Given the description of an element on the screen output the (x, y) to click on. 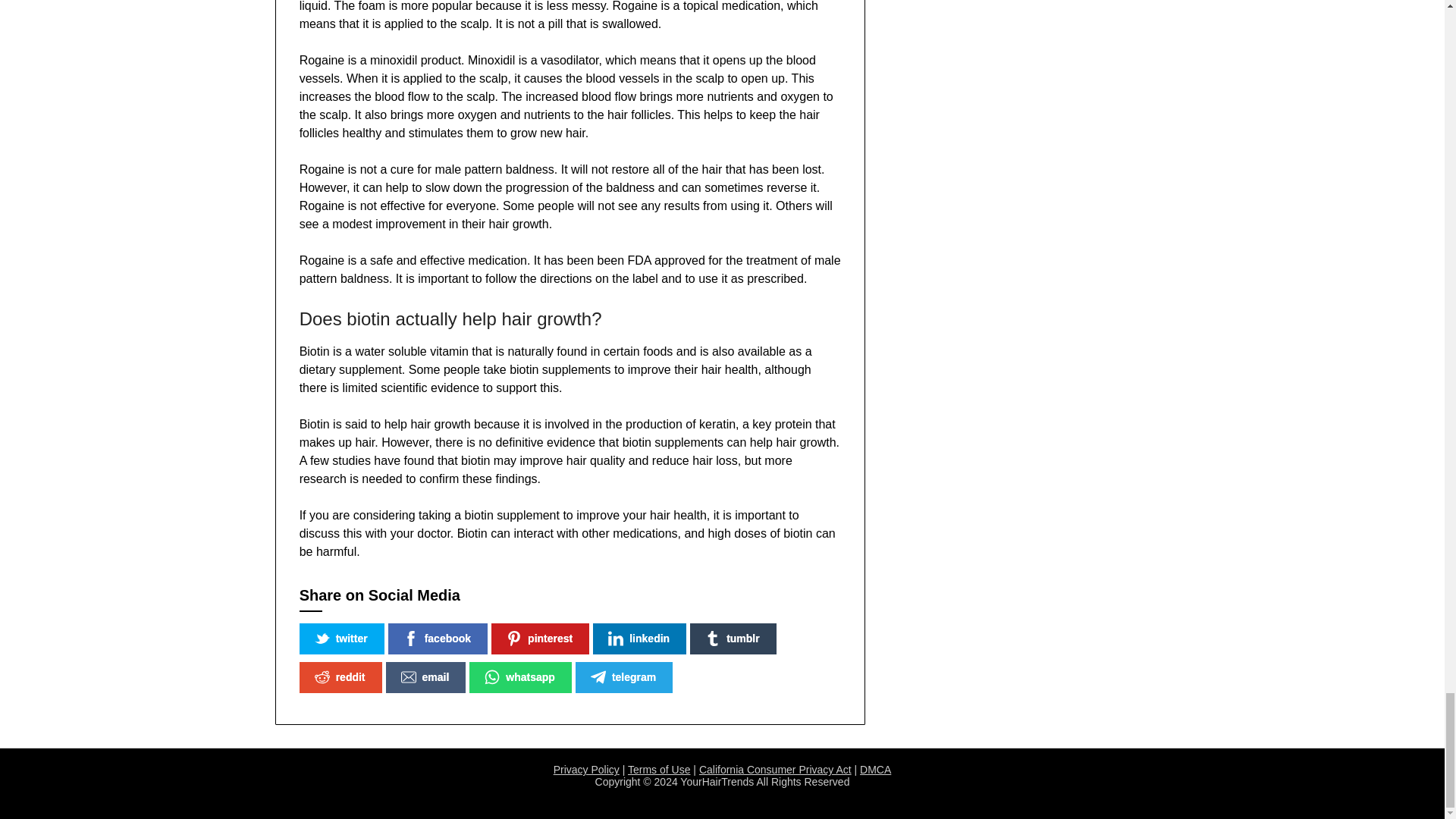
email (425, 676)
linkedin (638, 638)
facebook (437, 638)
telegram (623, 676)
tumblr (733, 638)
pinterest (540, 638)
twitter (341, 638)
whatsapp (520, 676)
reddit (340, 676)
